Given the description of an element on the screen output the (x, y) to click on. 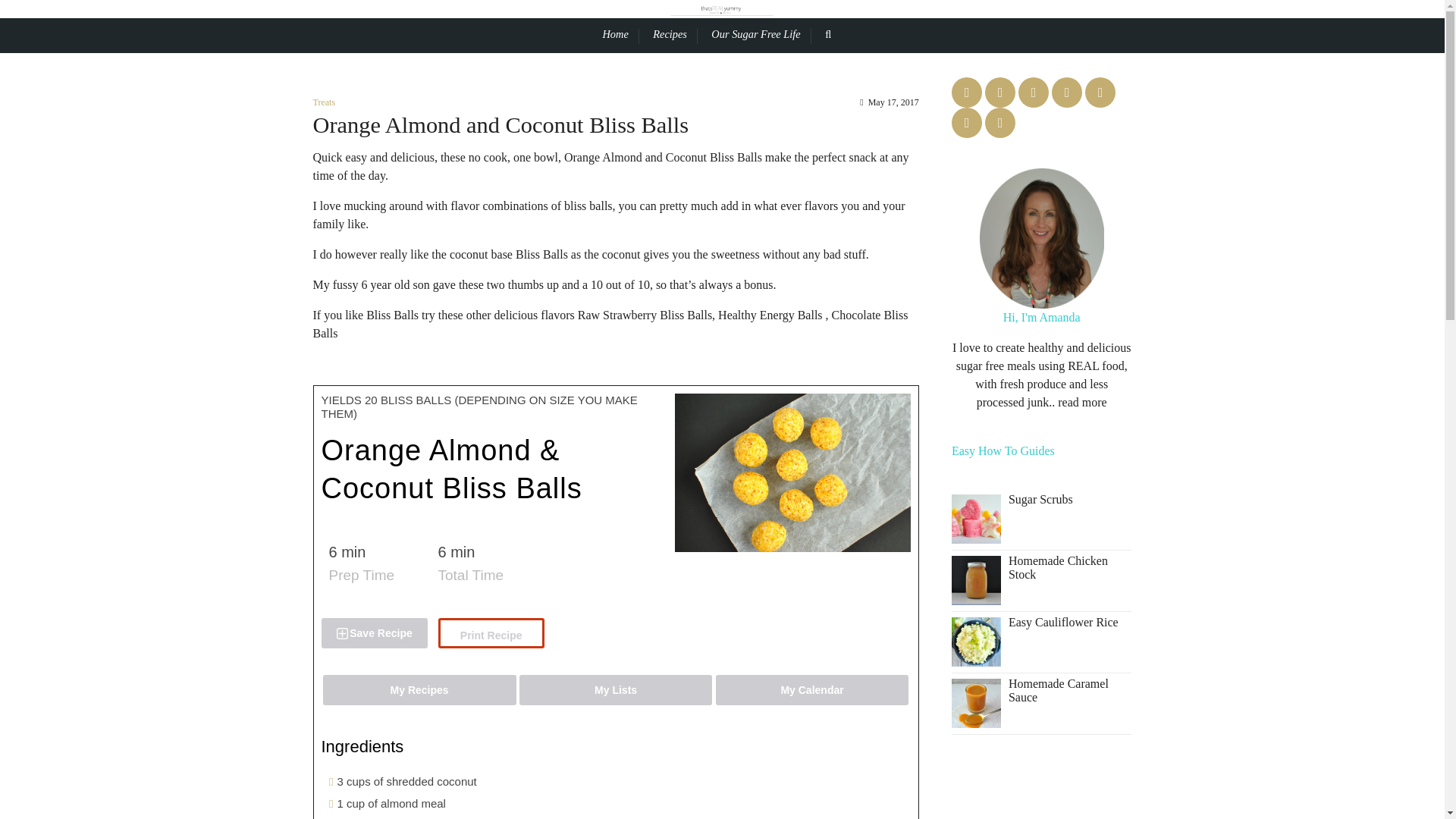
May 17, 2017 (889, 102)
Raw Strawberry Bliss Balls, (646, 314)
My Recipes (419, 689)
Recipes (674, 35)
Chocolate Bliss Balls (610, 323)
Healthy Energy Balls (769, 314)
My Calendar (812, 689)
Save Recipe to Mealplannerpro.com (374, 633)
Home (620, 35)
Treats (323, 102)
